Given the description of an element on the screen output the (x, y) to click on. 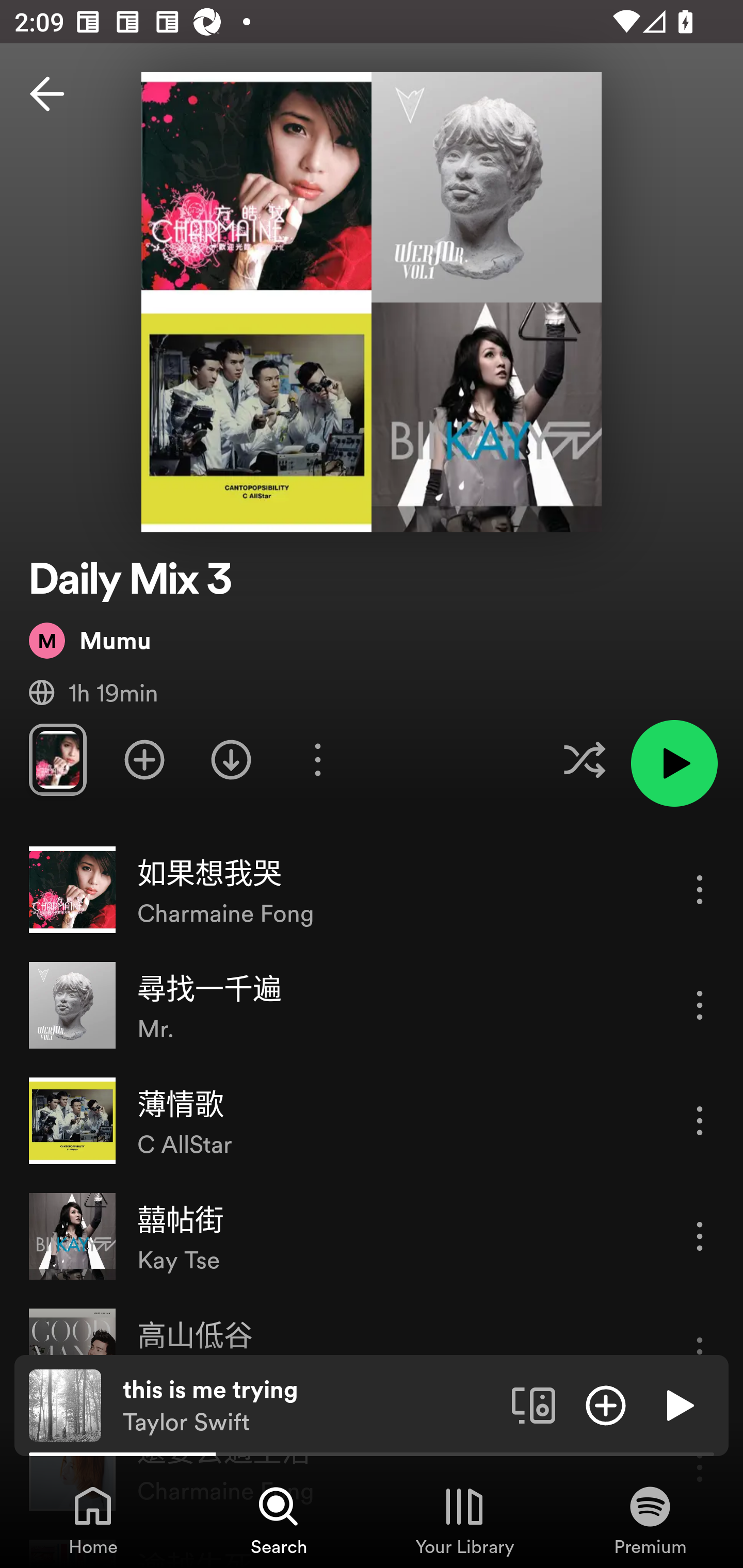
Back (46, 93)
Mumu (89, 640)
Swipe through previews of tracks in this playlist. (57, 759)
Add playlist to Your Library (144, 759)
Download (230, 759)
More options for playlist Daily Mix 3 (317, 759)
Enable shuffle for this playlist (583, 759)
Play playlist (674, 763)
如果想我哭 Charmaine Fong More options for song 如果想我哭 (371, 889)
More options for song 如果想我哭 (699, 889)
尋找一千遍 Mr. More options for song 尋找一千遍 (371, 1005)
More options for song 尋找一千遍 (699, 1004)
薄情歌 C AllStar More options for song 薄情歌 (371, 1121)
More options for song 薄情歌 (699, 1120)
囍帖街 Kay Tse More options for song 囍帖街 (371, 1236)
More options for song 囍帖街 (699, 1236)
高山低谷 Phil Lam More options for song 高山低谷 (371, 1351)
More options for song 高山低谷 (699, 1352)
this is me trying Taylor Swift (309, 1405)
